Given the description of an element on the screen output the (x, y) to click on. 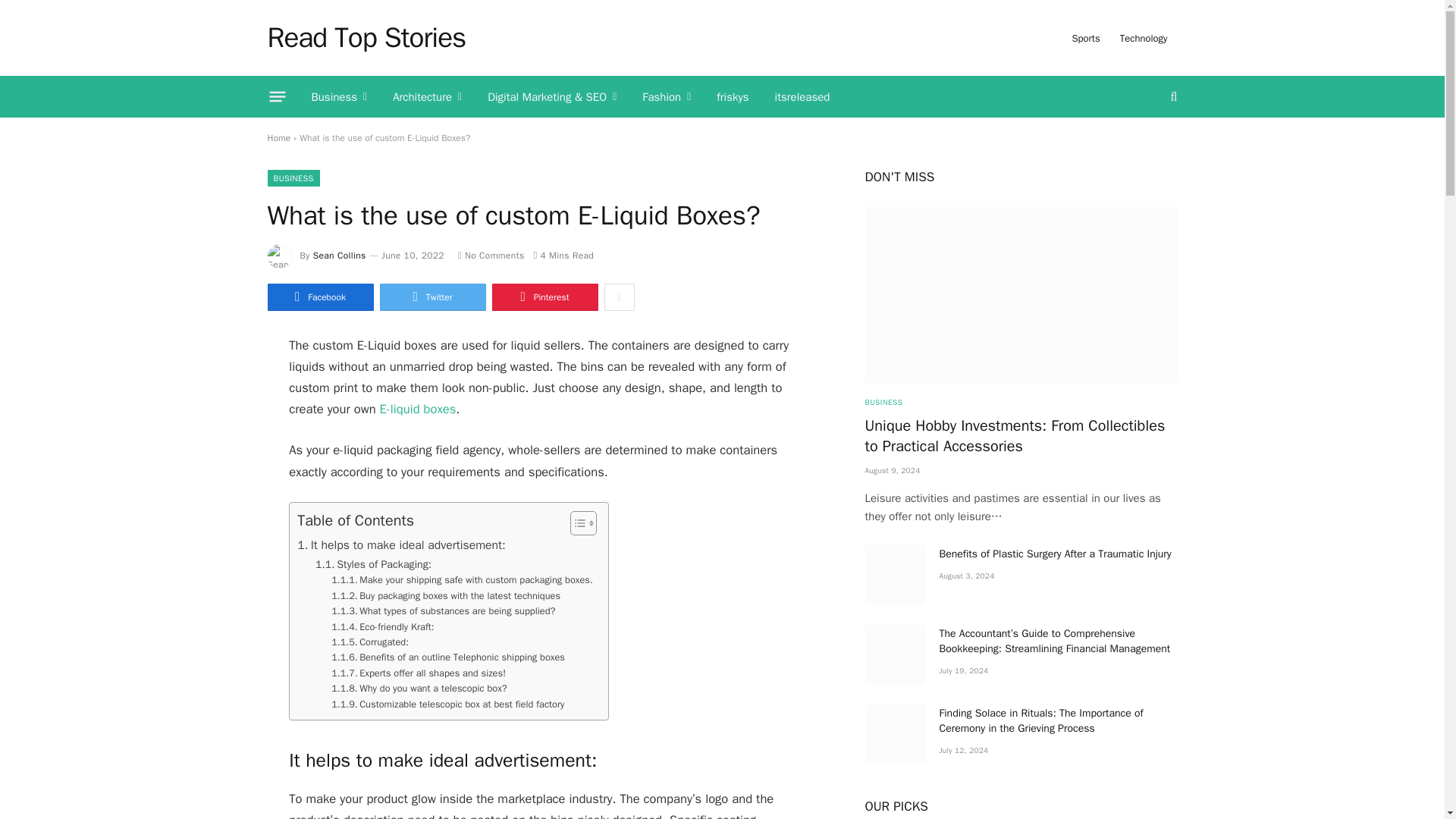
Share on Facebook (319, 297)
Posts by Sean Collins (339, 255)
Read Top Stories (365, 37)
Business (339, 96)
Read Top Stories (365, 37)
Technology (1143, 38)
Share on Pinterest (544, 297)
